Given the description of an element on the screen output the (x, y) to click on. 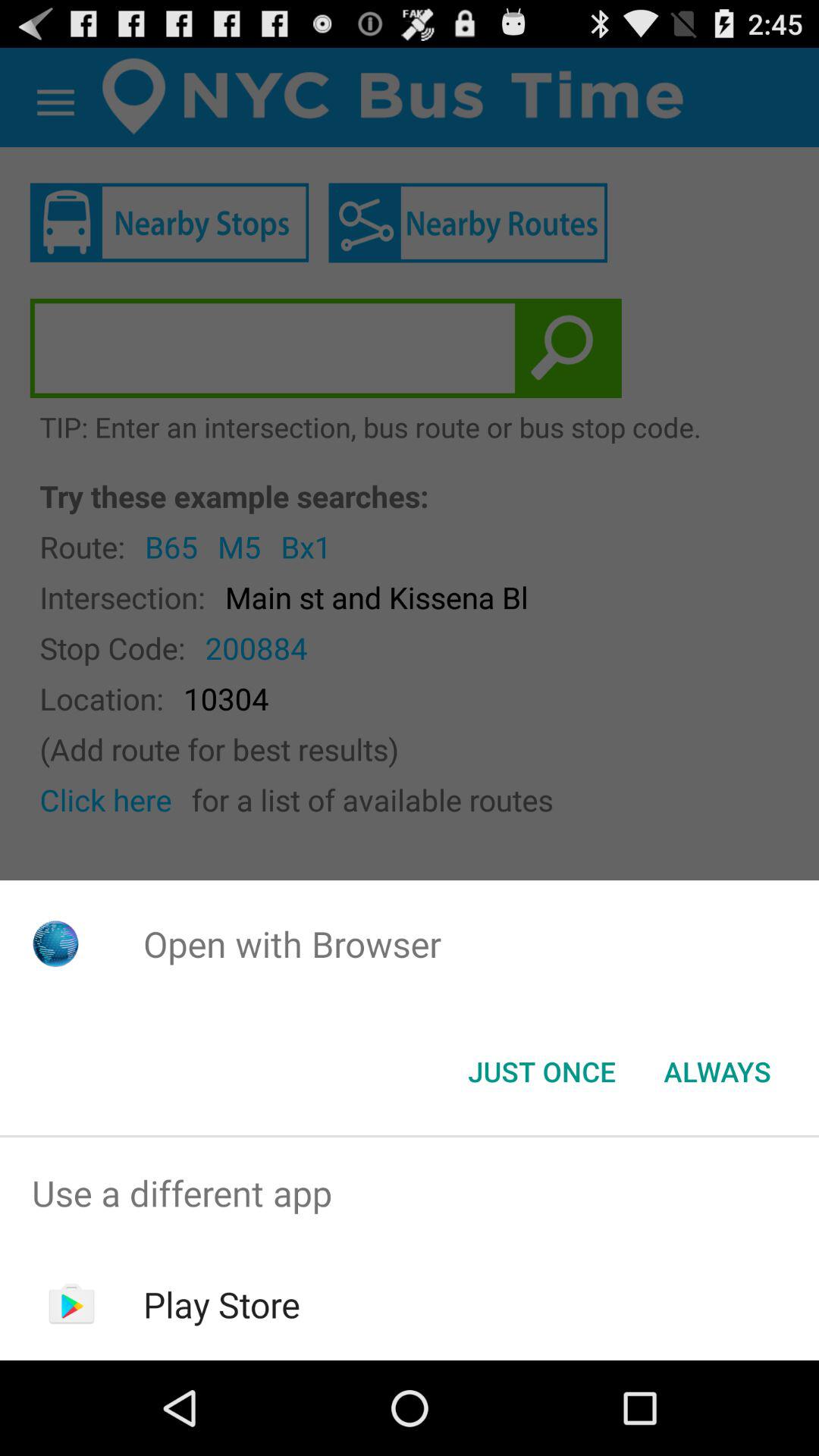
select icon next to the just once button (717, 1071)
